Given the description of an element on the screen output the (x, y) to click on. 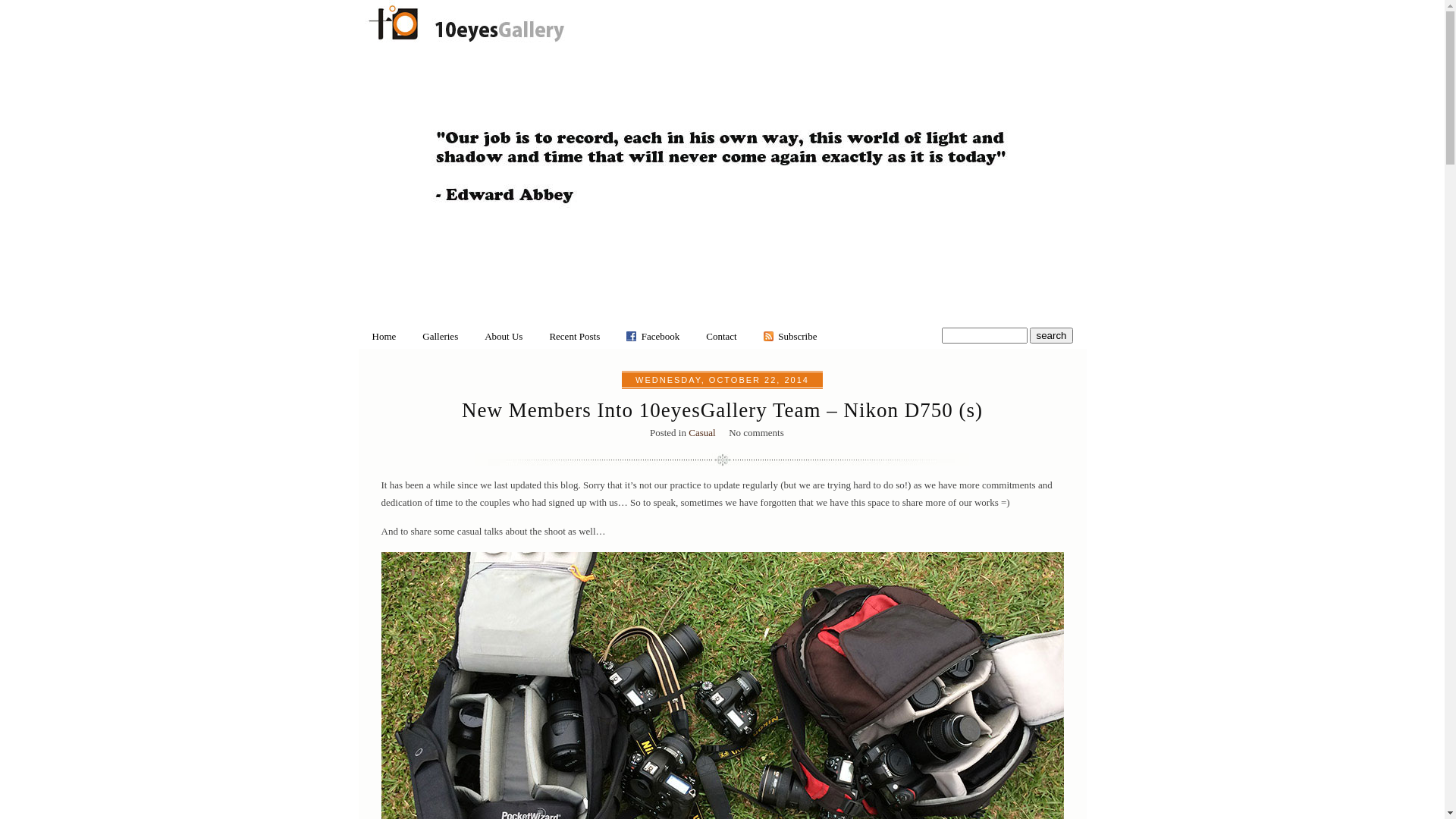
Facebook Element type: text (660, 336)
About Us Element type: text (503, 336)
Home Element type: text (383, 336)
10eyesgallery Element type: hover (465, 41)
search Element type: text (1050, 335)
Casual Element type: text (701, 432)
Contact Element type: text (721, 336)
Galleries Element type: text (440, 336)
Recent Posts Element type: text (574, 336)
Subscribe Element type: text (795, 336)
